Given the description of an element on the screen output the (x, y) to click on. 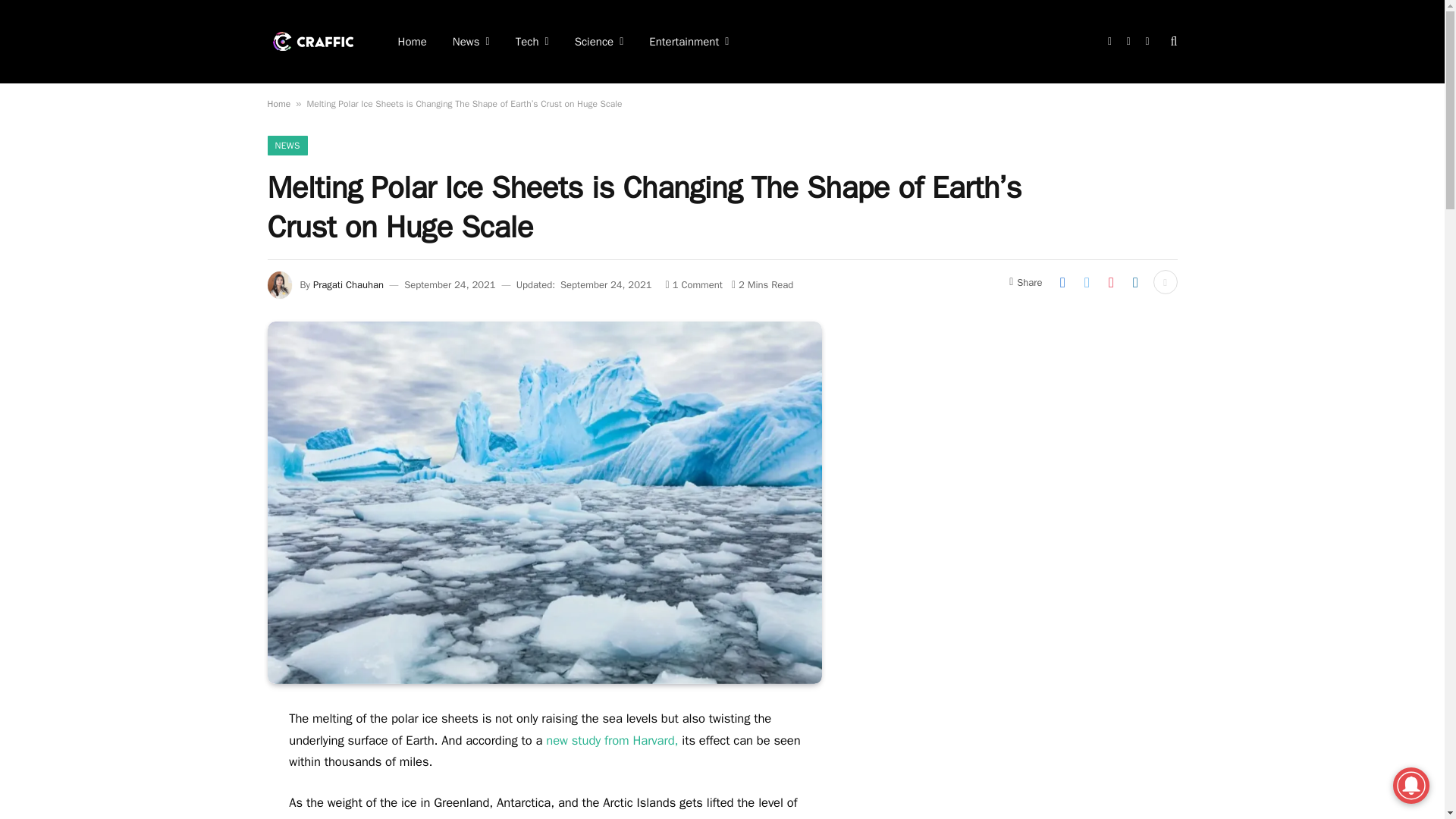
Entertainment (688, 41)
Share on LinkedIn (1135, 282)
Science (599, 41)
Show More Social Sharing (1164, 282)
Share on Pinterest (1110, 282)
Share on Facebook (1062, 282)
Craffic (312, 41)
